Given the description of an element on the screen output the (x, y) to click on. 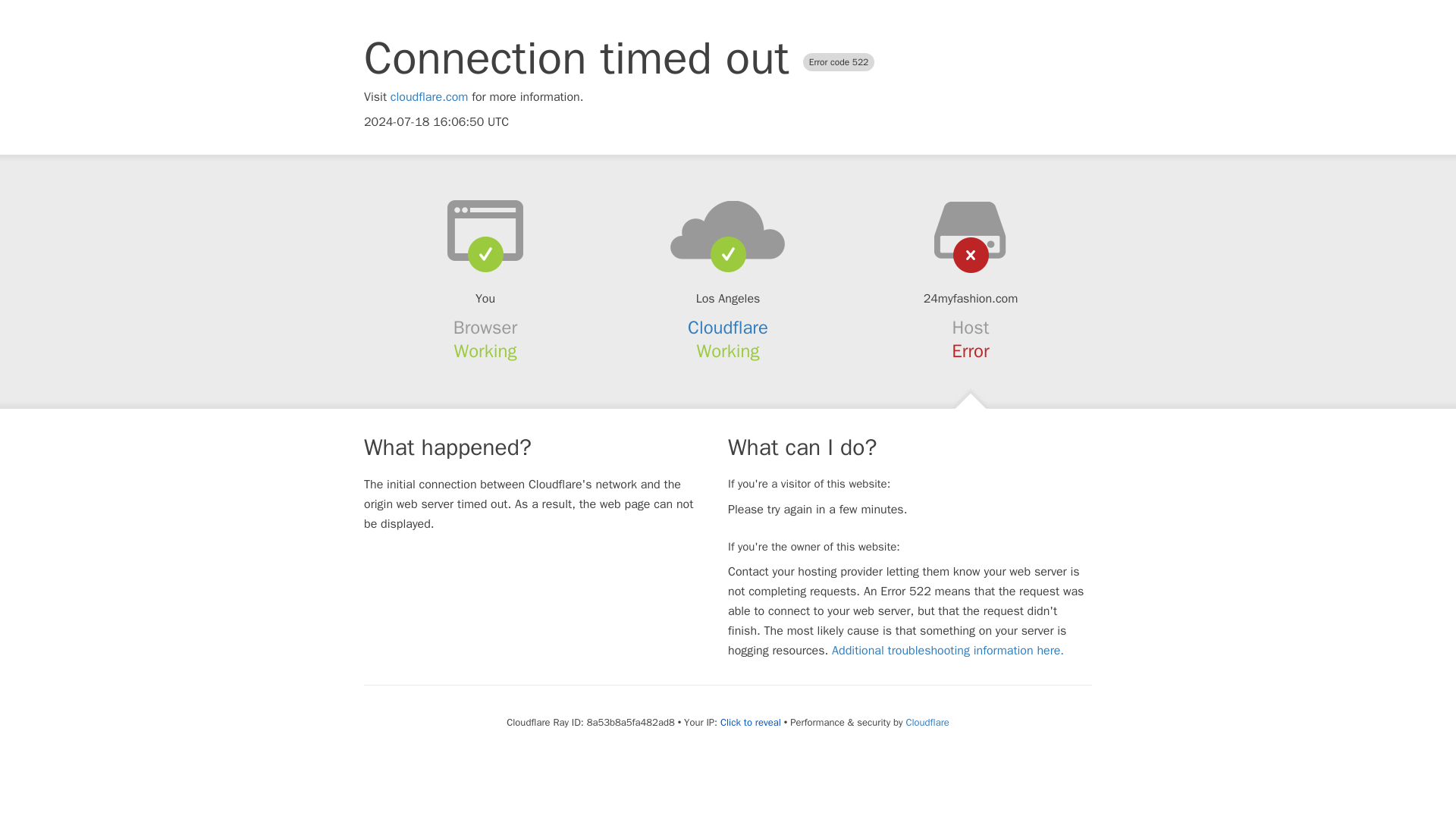
Cloudflare (727, 327)
cloudflare.com (429, 96)
Cloudflare (927, 721)
Additional troubleshooting information here. (947, 650)
Click to reveal (750, 722)
